Given the description of an element on the screen output the (x, y) to click on. 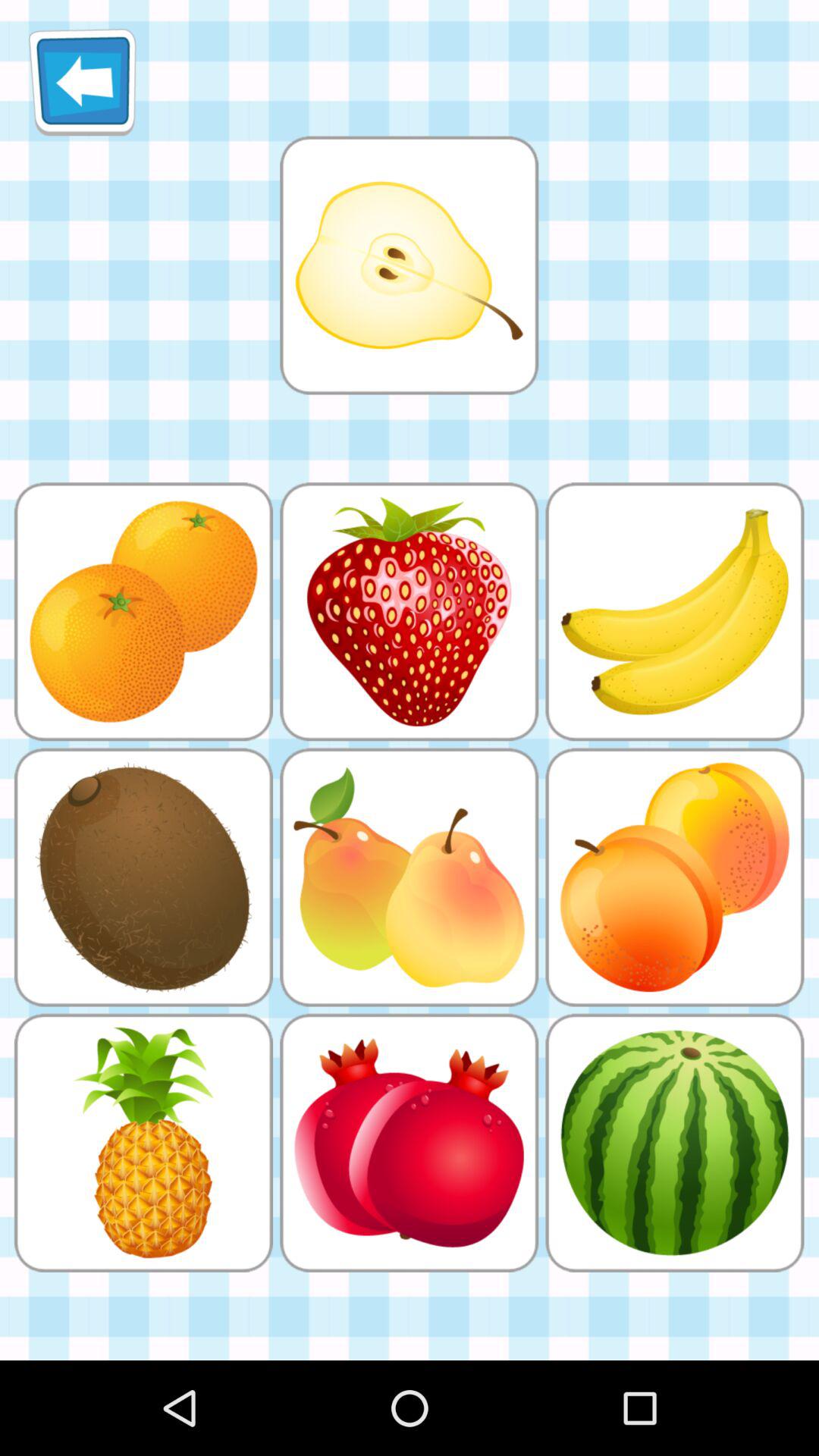
match image of pear (409, 265)
